Given the description of an element on the screen output the (x, y) to click on. 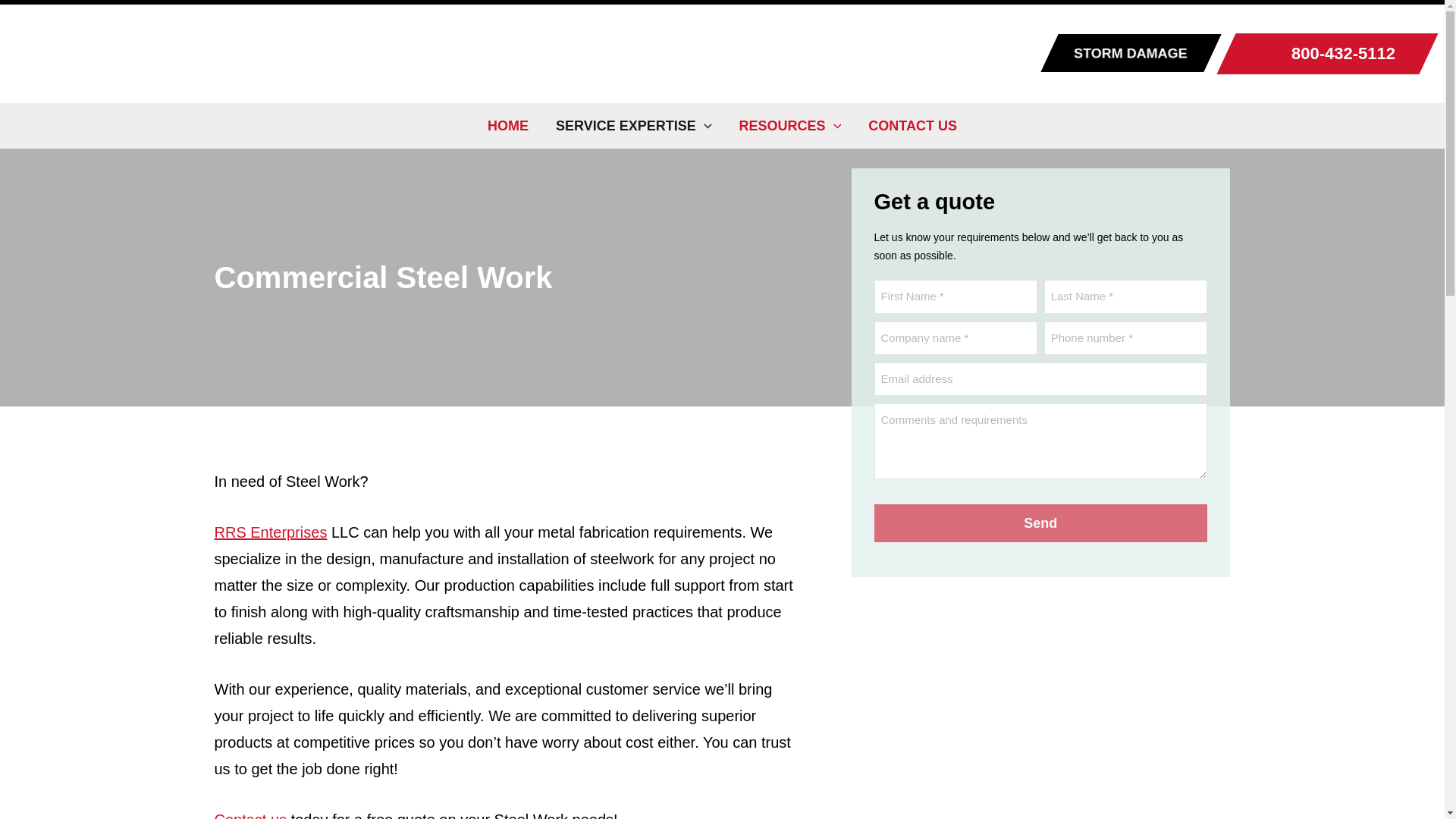
CONTACT US (912, 125)
Contact us (250, 815)
RESOURCES (790, 125)
800-432-5112 (1327, 53)
SERVICE EXPERTISE (633, 125)
Send (1040, 523)
STORM DAMAGE  (1141, 53)
HOME (507, 125)
Send (1040, 523)
RRS Enterprises (270, 532)
